Given the description of an element on the screen output the (x, y) to click on. 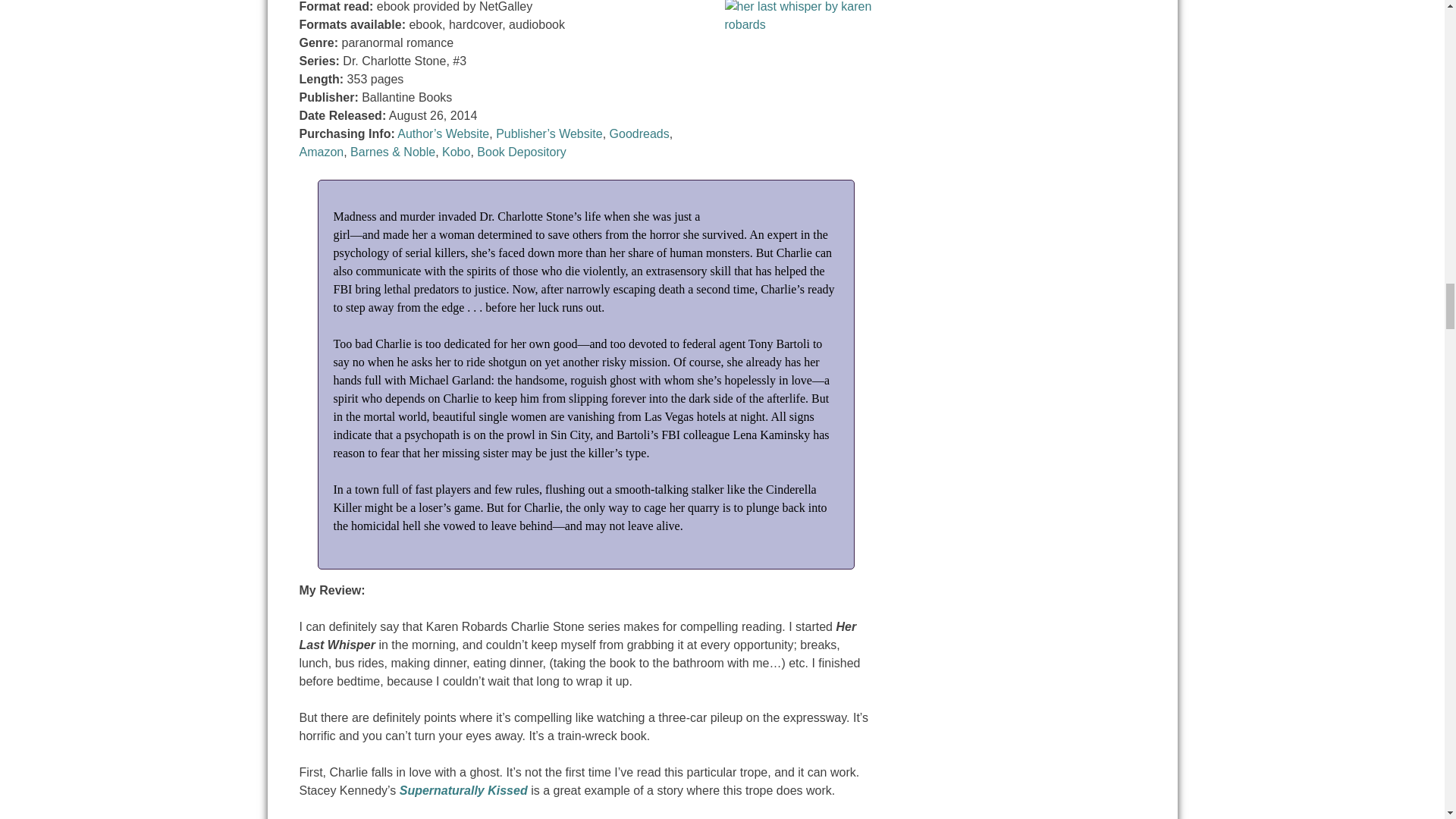
Supernaturally Kissed (462, 789)
